Given the description of an element on the screen output the (x, y) to click on. 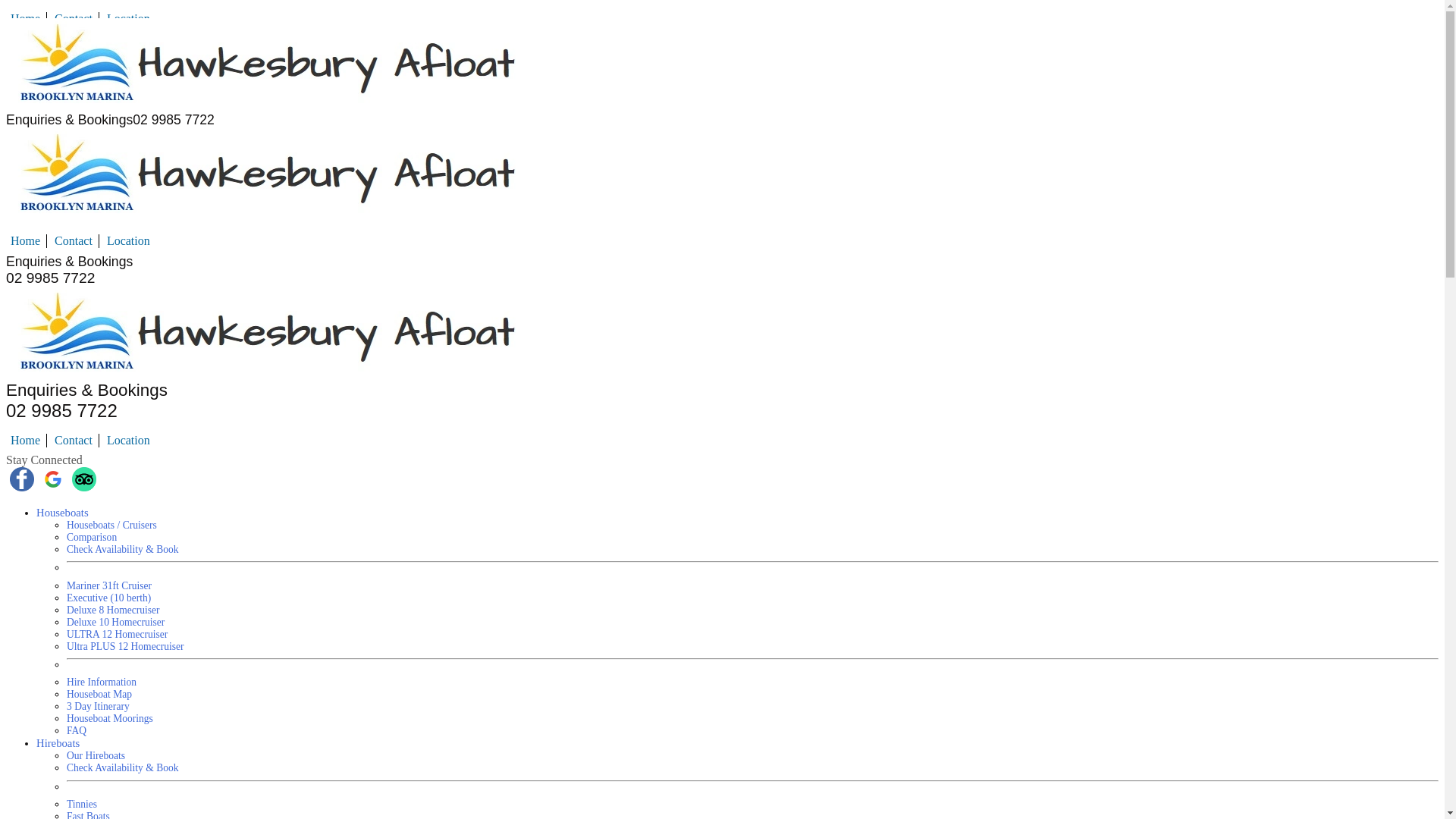
Home Element type: text (25, 18)
Houseboats / Cruisers Element type: text (111, 524)
Deluxe 10 Homecruiser Element type: text (115, 621)
Location Element type: text (128, 240)
3 Day Itinerary Element type: text (97, 706)
Tinnies Element type: text (81, 803)
Contact Element type: text (73, 440)
Comparison Element type: text (91, 536)
Hire Information Element type: text (101, 681)
Check Availability & Book Element type: text (122, 549)
Houseboat Map Element type: text (98, 693)
Ultra PLUS 12 Homecruiser Element type: text (124, 646)
Contact Element type: text (73, 18)
Home Element type: text (25, 240)
Mariner 31ft Cruiser Element type: text (108, 585)
Our Hireboats Element type: text (95, 755)
Executive (10 berth) Element type: text (108, 597)
Location Element type: text (128, 440)
FAQ Element type: text (76, 730)
Trip Advisor Element type: hover (84, 486)
Deluxe 8 Homecruiser Element type: text (113, 609)
Hireboats Element type: text (57, 743)
ULTRA 12 Homecruiser Element type: text (116, 634)
Contact Element type: text (73, 240)
Google Reviews Element type: hover (54, 486)
Check Availability & Book Element type: text (122, 767)
Home Element type: text (25, 440)
Facebook Element type: hover (23, 486)
Location Element type: text (128, 18)
Houseboat Moorings Element type: text (109, 718)
Houseboats Element type: text (62, 512)
